Given the description of an element on the screen output the (x, y) to click on. 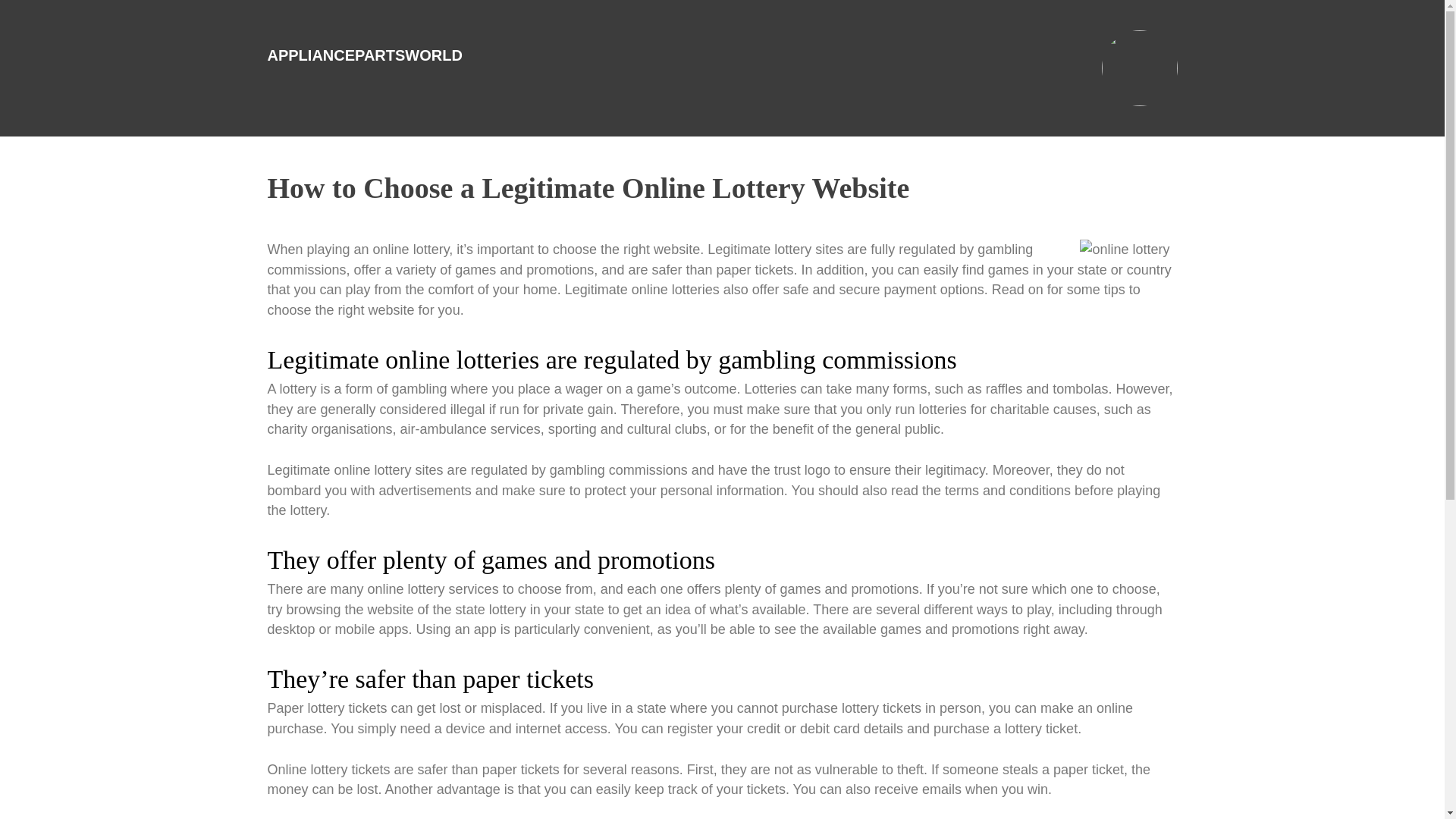
appliancepartsworld (363, 54)
APPLIANCEPARTSWORLD (363, 54)
